Given the description of an element on the screen output the (x, y) to click on. 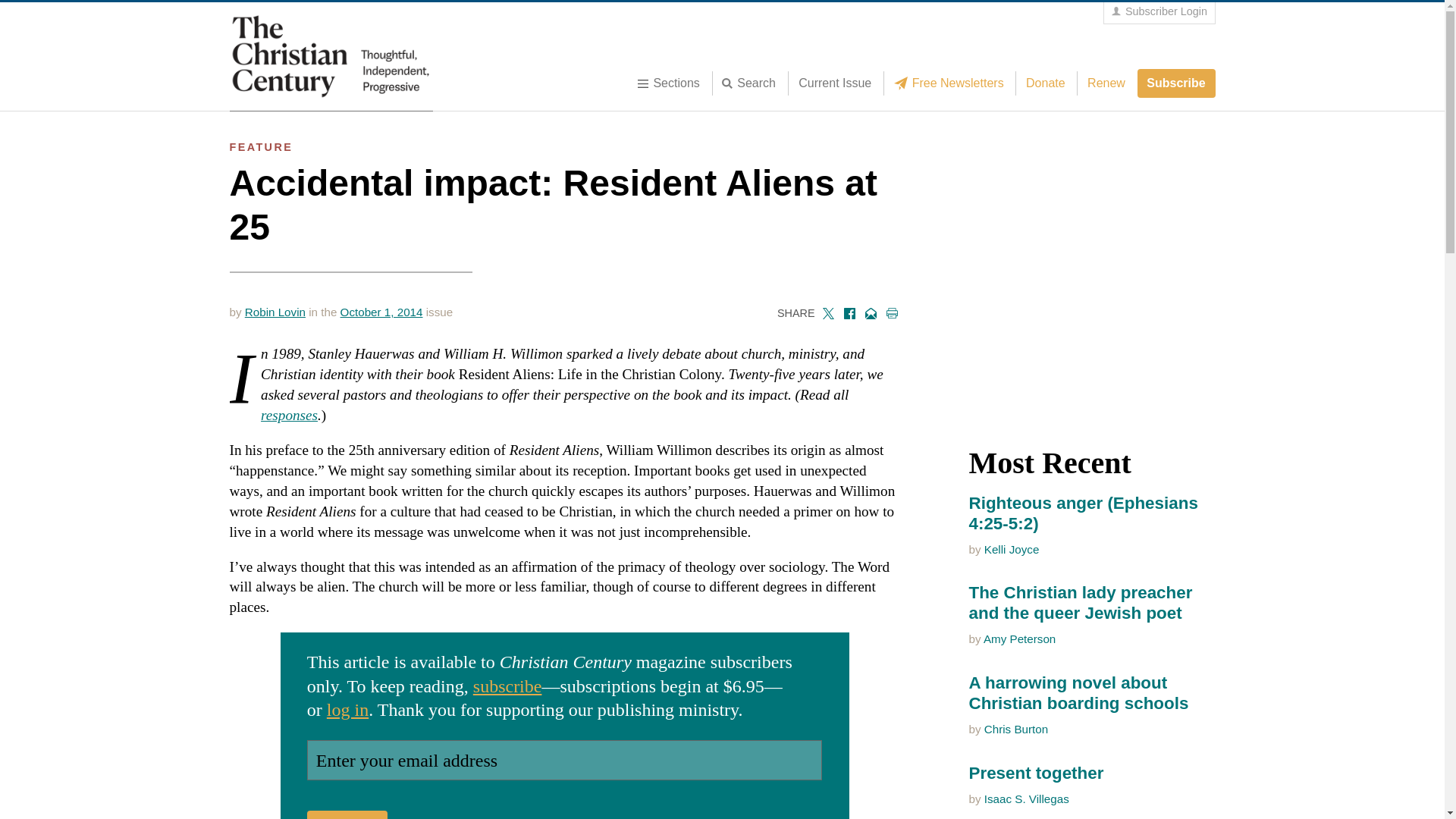
Donate (1045, 83)
Subscribe (1176, 82)
Next Step (347, 814)
Current Issue (834, 83)
Back to homepage (330, 56)
Free Newsletters (952, 83)
title (753, 83)
Renew (1105, 83)
Subscriber Login (1159, 11)
